Given the description of an element on the screen output the (x, y) to click on. 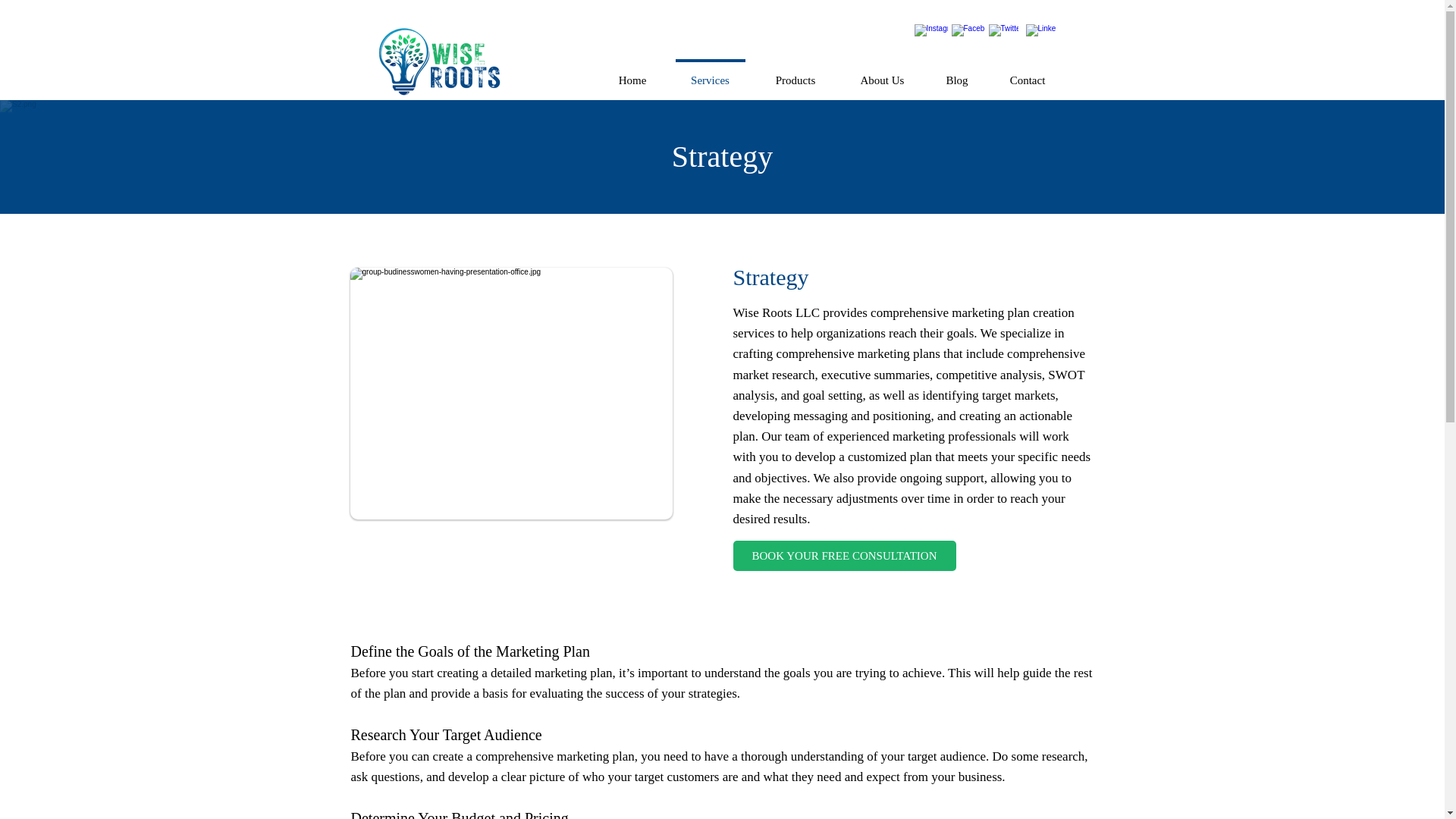
Services (709, 73)
Home (632, 73)
Products (795, 73)
Blog (957, 73)
About Us (882, 73)
Contact (1027, 73)
BOOK YOUR FREE CONSULTATION (843, 555)
